Given the description of an element on the screen output the (x, y) to click on. 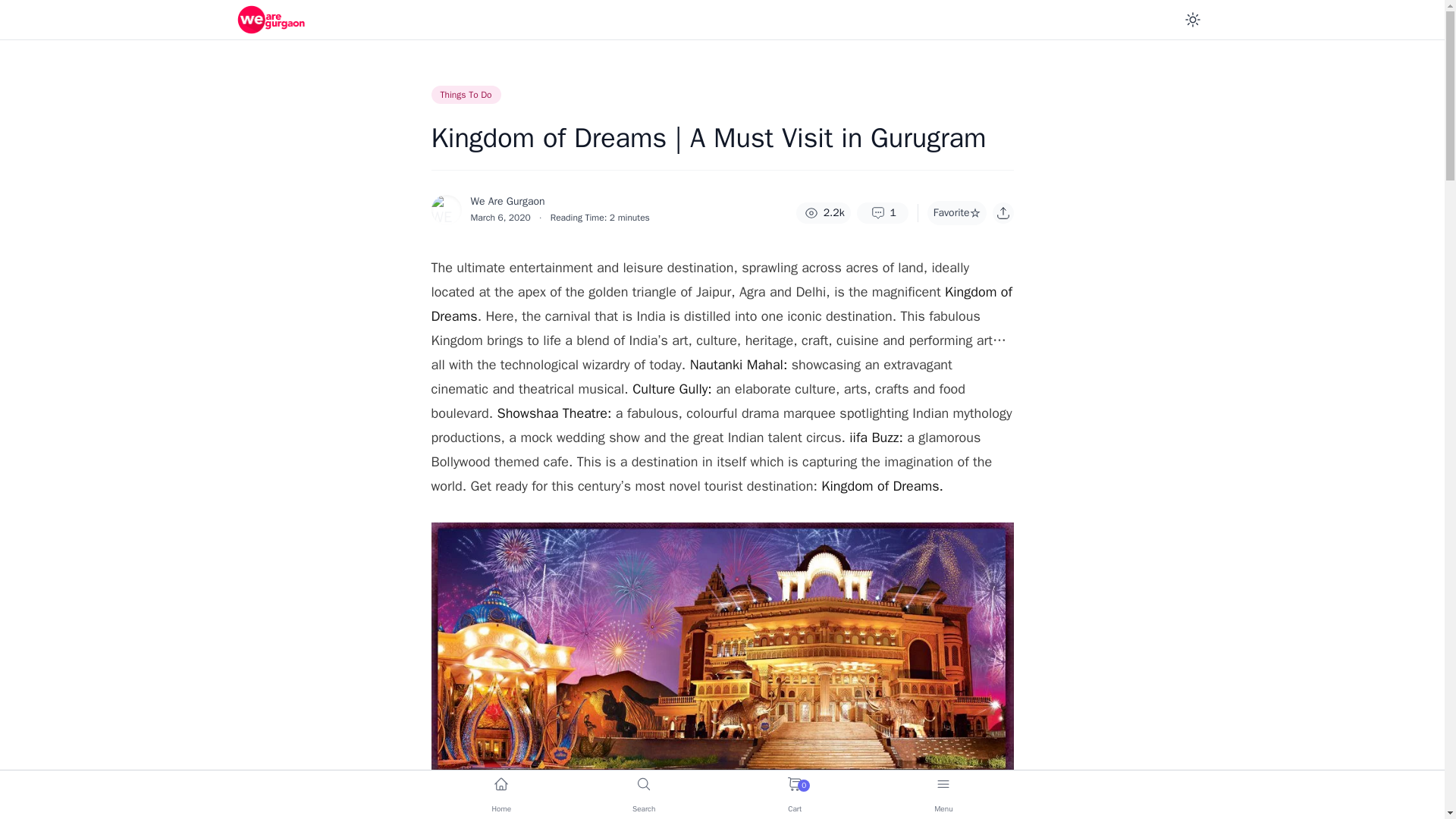
Favorite (957, 212)
We Are Gurgaon (507, 201)
Share with (1002, 212)
Views (823, 212)
kingdom dreams gurgaon (721, 808)
Comments (882, 212)
Things To Do (465, 94)
Enable dark mode (1191, 19)
1 (882, 212)
kingdom dreams gurgaon (794, 794)
